Given the description of an element on the screen output the (x, y) to click on. 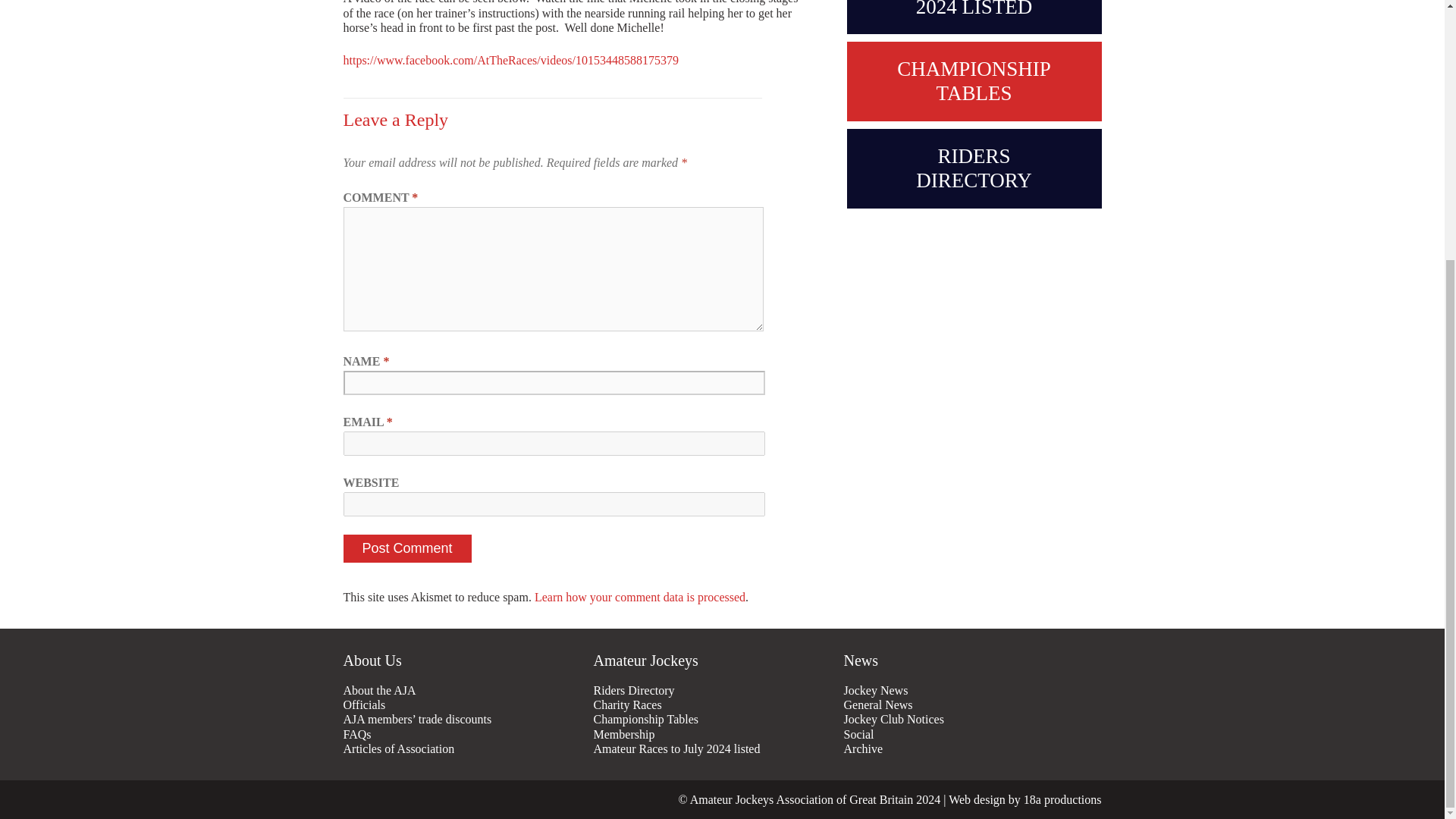
CHAMPIONSHIP TABLES (972, 81)
AMATEUR RACES TO JULY 2024 LISTED (972, 17)
Amateur Races to July 2024 listed (713, 748)
Social (964, 734)
FAQs (463, 734)
General News (964, 704)
About the AJA (463, 690)
Jockey News (964, 690)
Web design by 18a productions (1024, 799)
Officials (463, 704)
Jockey Club Notices (964, 718)
Learn how your comment data is processed (639, 596)
Archive (964, 748)
Membership (713, 734)
Riders Directory (713, 690)
